Given the description of an element on the screen output the (x, y) to click on. 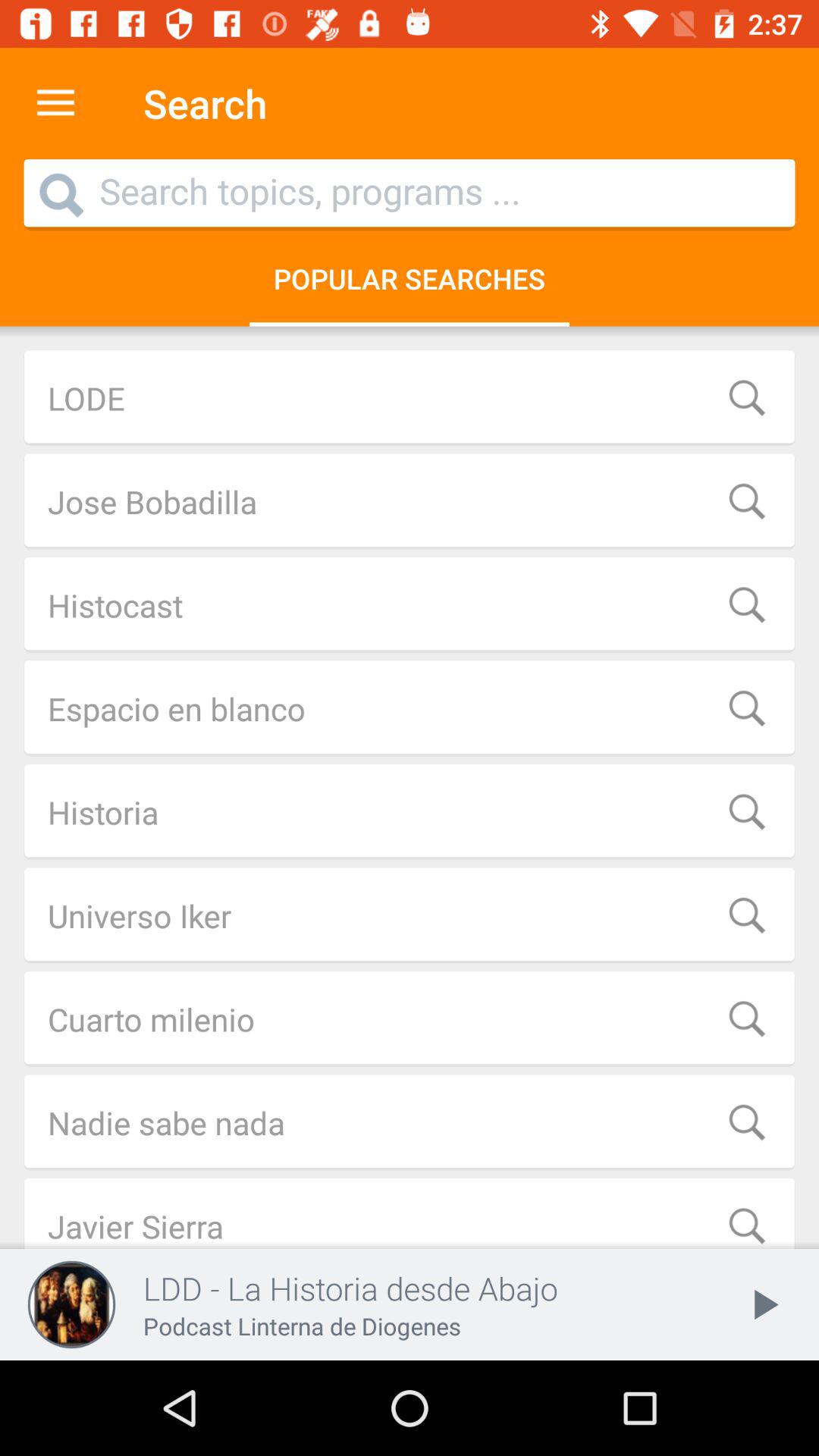
choose jose bobadilla item (409, 501)
